Given the description of an element on the screen output the (x, y) to click on. 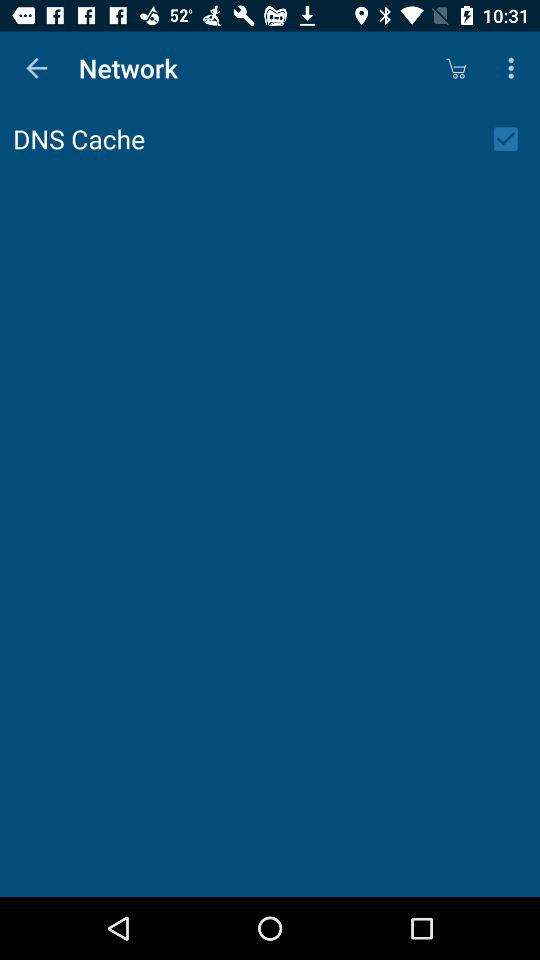
press the item to the right of dns cache item (512, 139)
